Given the description of an element on the screen output the (x, y) to click on. 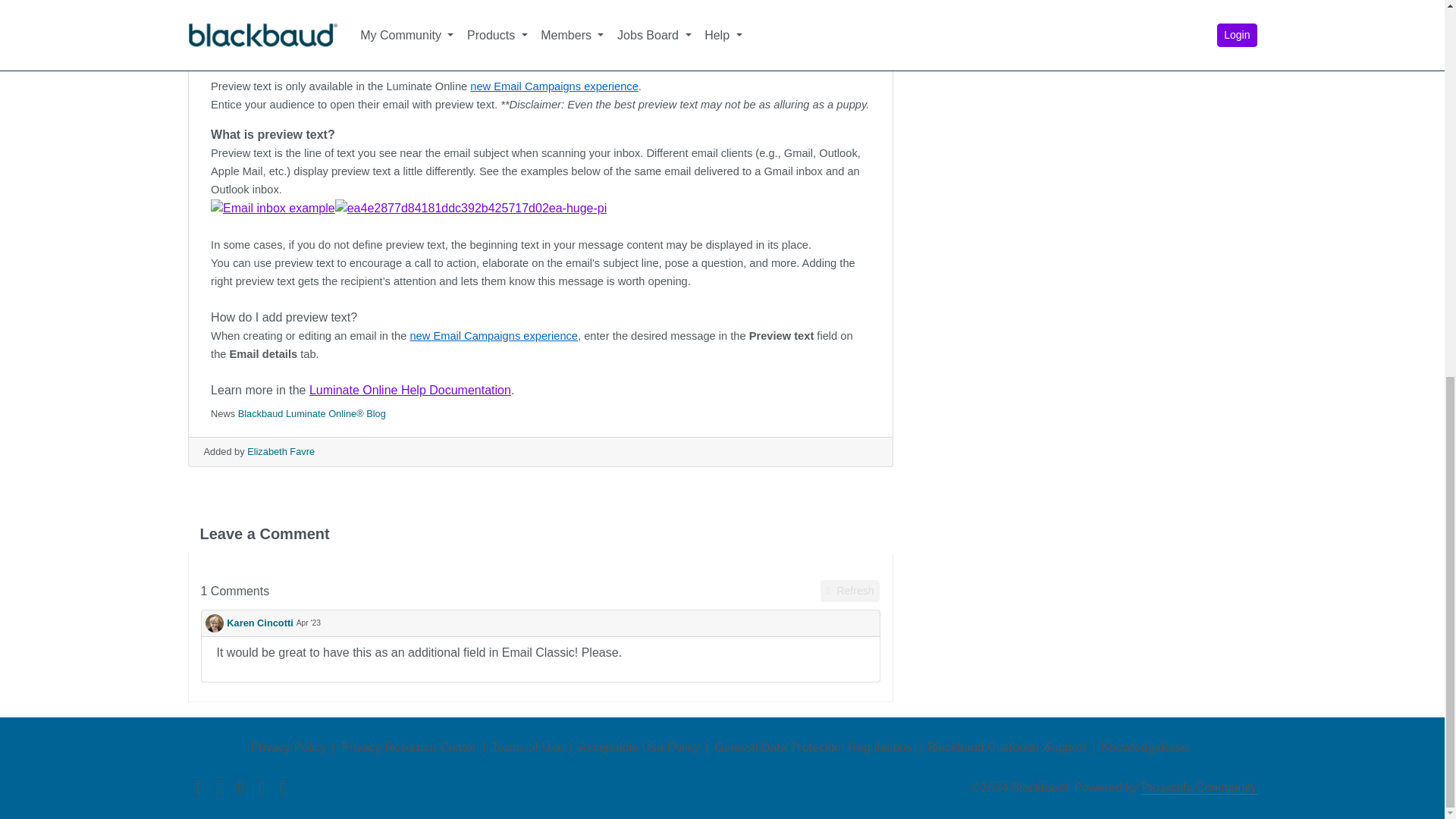
Privacy Resource Center (409, 747)
Karen Cincotti (248, 623)
10 Apr 2023 17:55 (308, 622)
Privacy Policy (288, 747)
Preview Text (470, 208)
Comments (234, 591)
Example Inbox (272, 208)
